Given the description of an element on the screen output the (x, y) to click on. 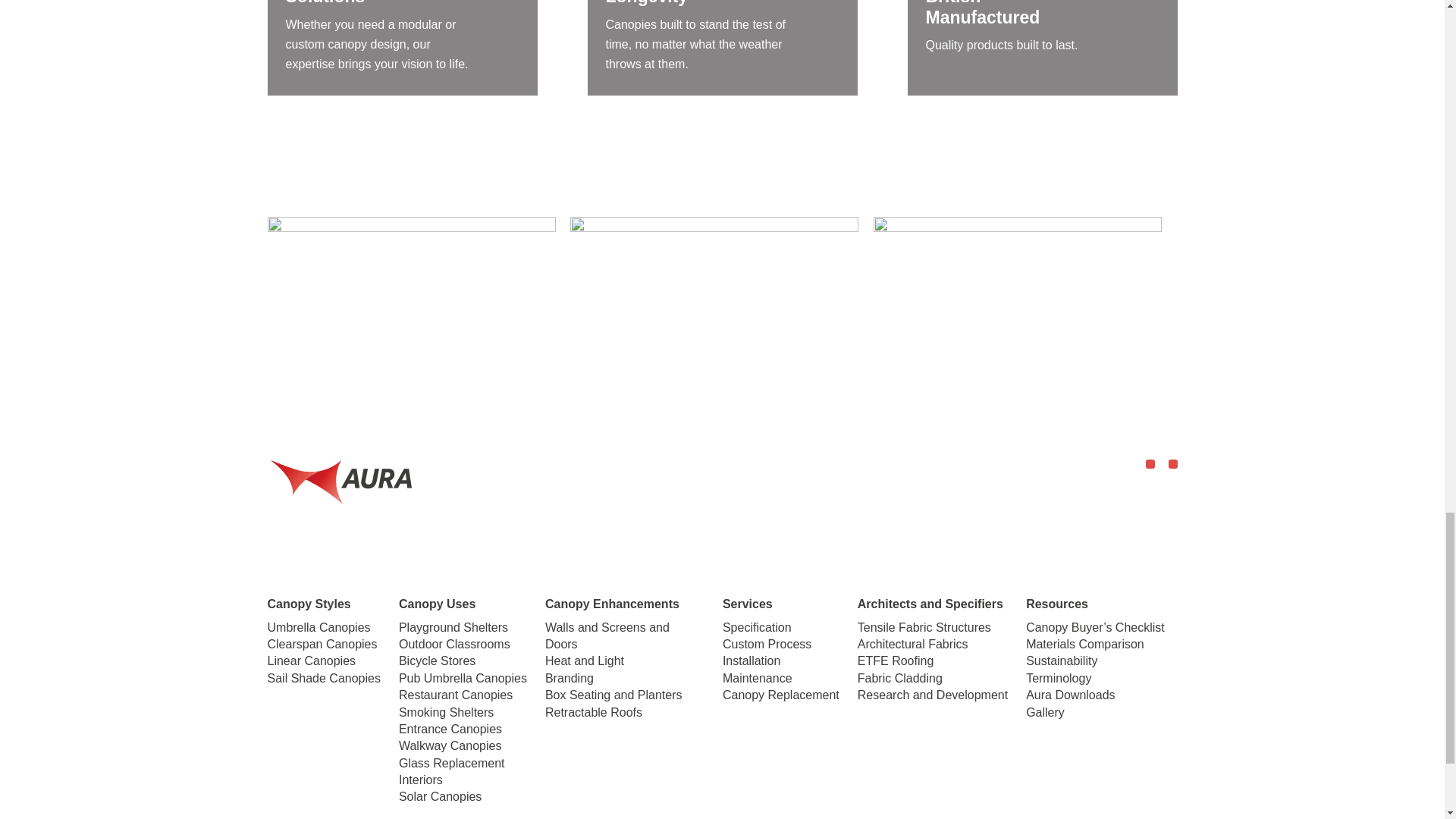
Safe Contractor logo (1017, 292)
CHAS logo (410, 292)
Constructionline logo (714, 292)
